Given the description of an element on the screen output the (x, y) to click on. 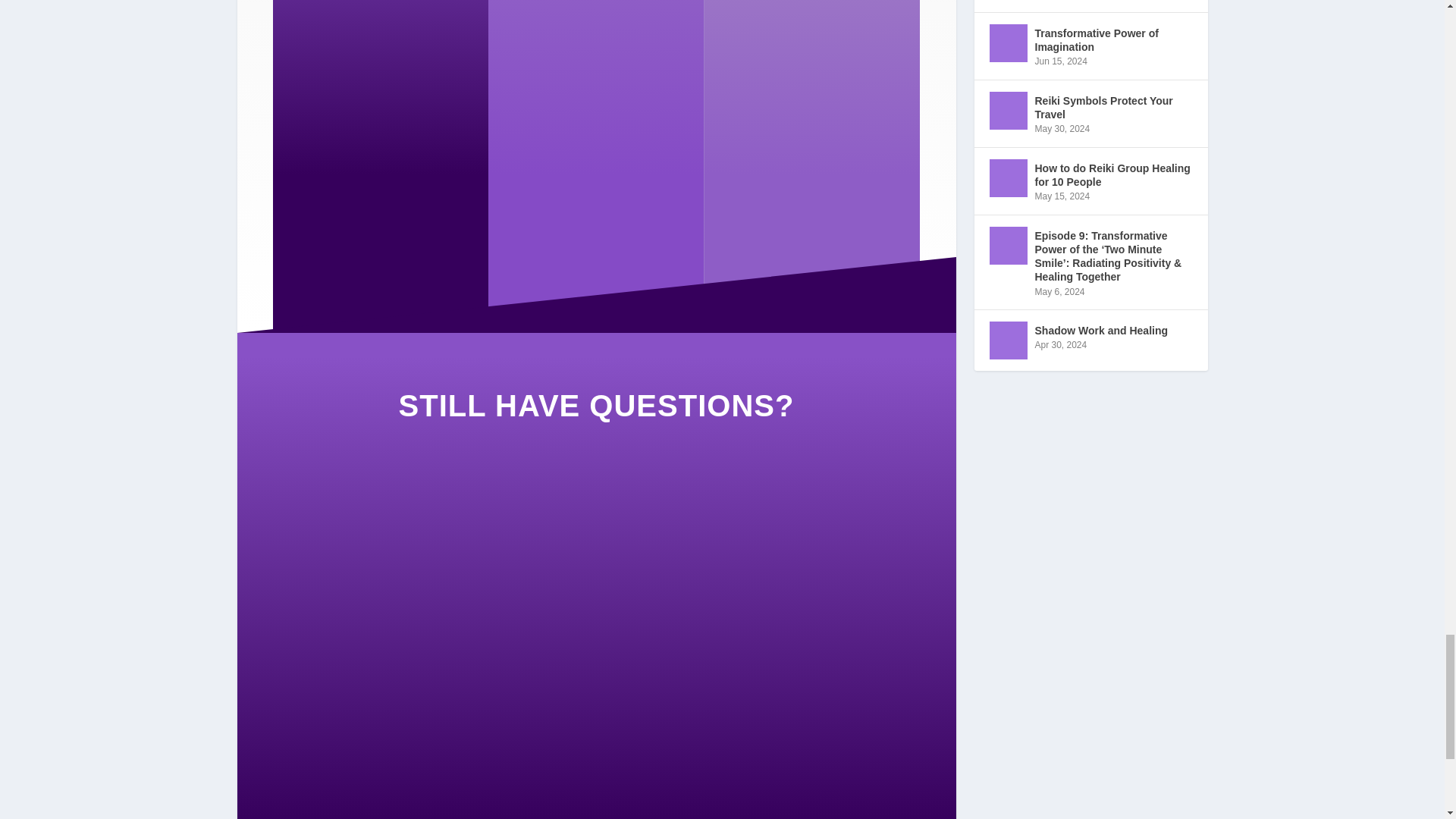
Transformative Power of Imagination (1007, 43)
Shadow Work and Healing (1007, 340)
Reiki Symbols Protect Your Travel (1007, 110)
How to do Reiki Group Healing for 10 People (1007, 177)
